Given the description of an element on the screen output the (x, y) to click on. 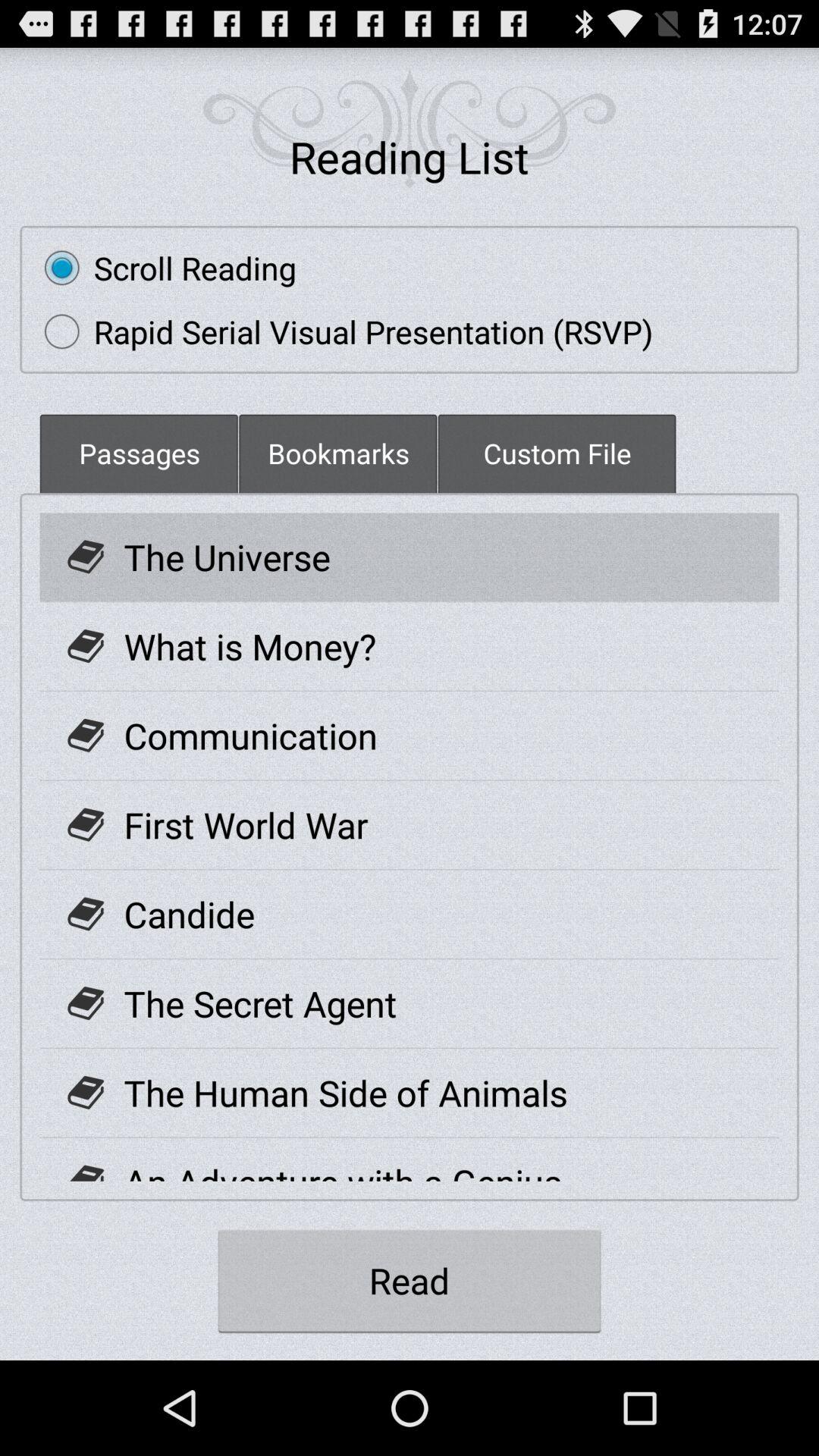
press the what is money? icon (250, 646)
